Given the description of an element on the screen output the (x, y) to click on. 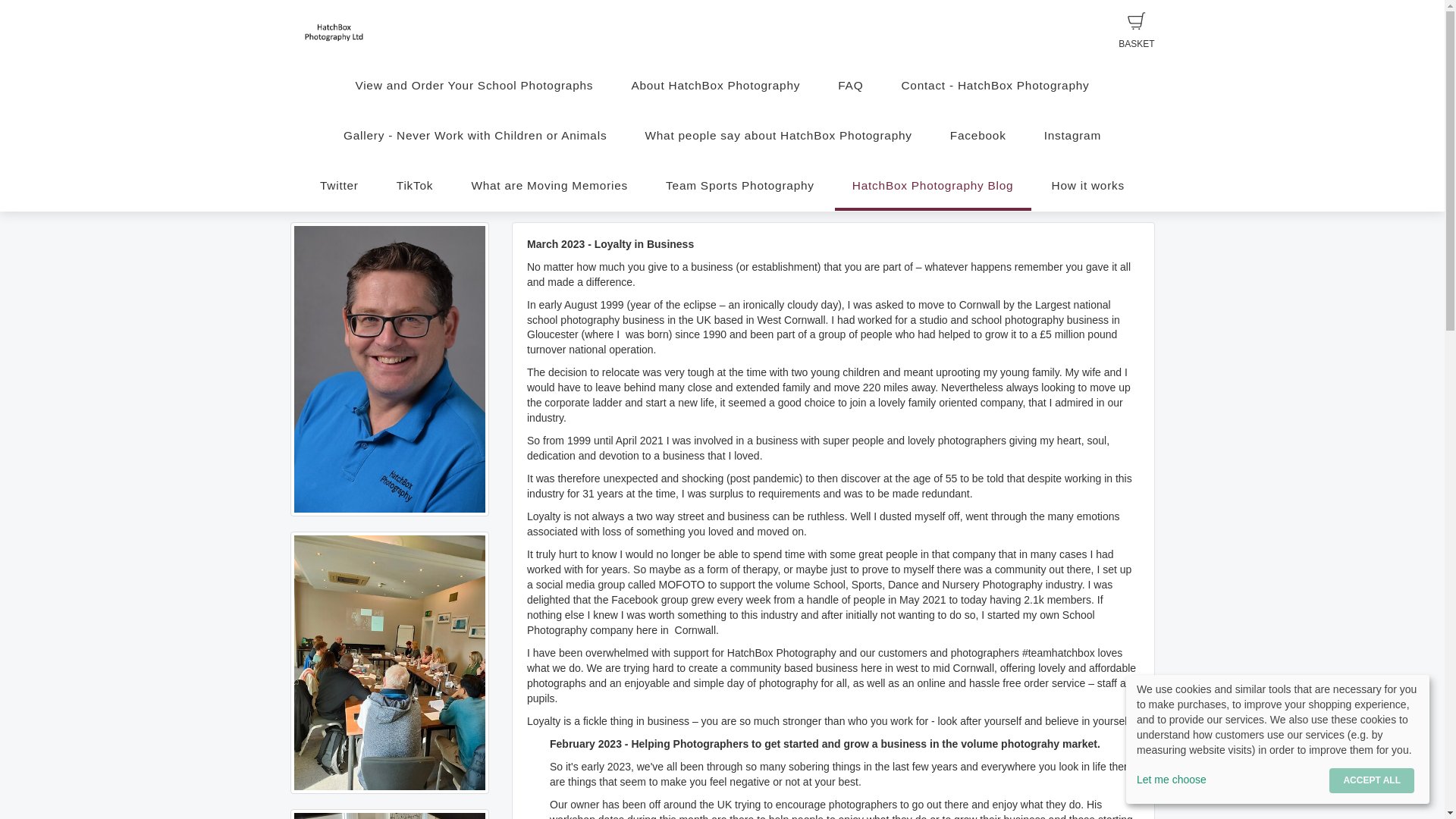
How it works (1087, 185)
TikTok (414, 185)
HatchBox Photography Blog (932, 185)
Let me choose (1230, 780)
ACCEPT ALL (1371, 780)
About HatchBox Photography (714, 85)
Gallery - Never Work with Children or Animals (475, 135)
View and Order Your School Photographs (473, 85)
IMG20230220133309 (389, 662)
What are Moving Memories (548, 185)
Team Sports Photography (739, 185)
Twitter (338, 185)
IMG20230220121400 (389, 814)
BASKET (1136, 30)
Contact - HatchBox Photography (994, 85)
